Given the description of an element on the screen output the (x, y) to click on. 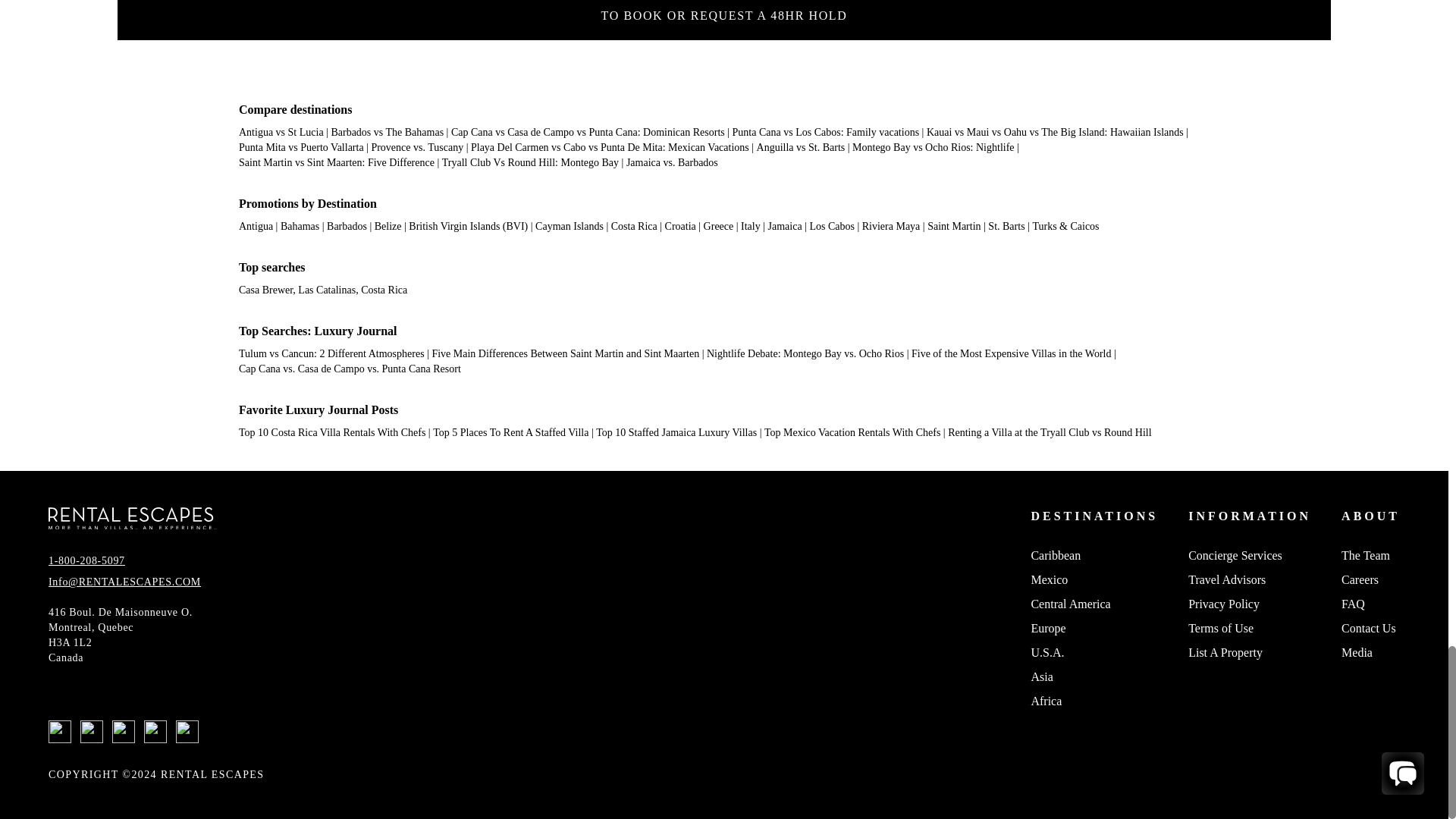
Punta Mita vs Puerto Vallarta (301, 147)
Barbados vs The Bahamas (387, 132)
Kauai vs Maui vs Oahu vs The Big Island: Hawaiian Islands (1054, 132)
Punta Cana vs Los Cabos: Family vacations (826, 132)
Antigua vs St Lucia (280, 132)
Montego Bay vs Ocho Rios: Nightlife (932, 147)
Belize (387, 225)
Provence vs. Tuscany (417, 147)
Antigua (255, 225)
Anguilla vs St. Barts (801, 147)
Bahamas (299, 225)
Barbados (346, 225)
Jamaica vs. Barbados (671, 162)
Cayman Islands (569, 225)
Saint Martin vs Sint Maarten: Five Difference (335, 162)
